Given the description of an element on the screen output the (x, y) to click on. 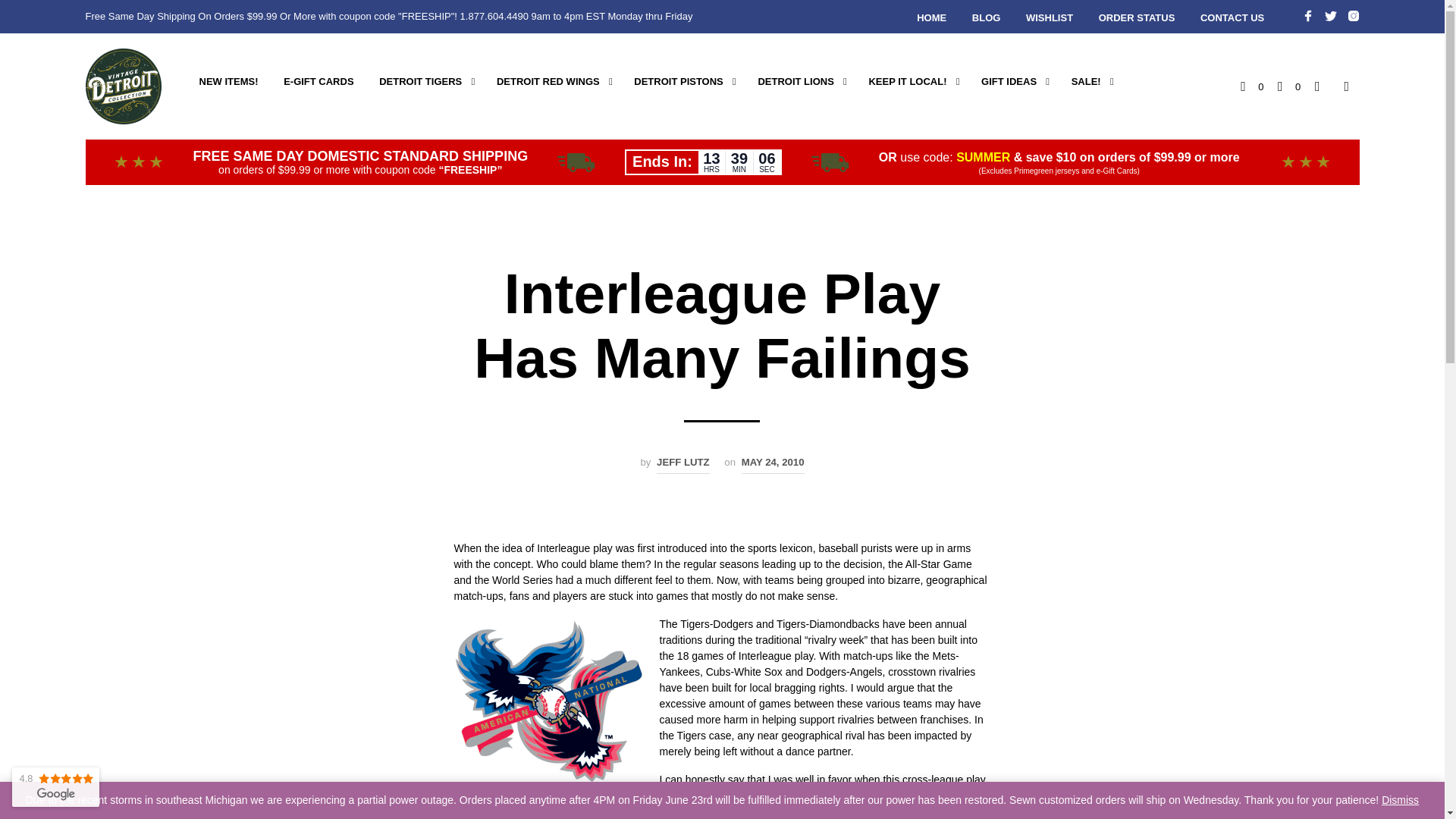
Permalink to Interleague Play Has Many Failings (773, 464)
View all posts by Jeff Lutz (683, 464)
